Given the description of an element on the screen output the (x, y) to click on. 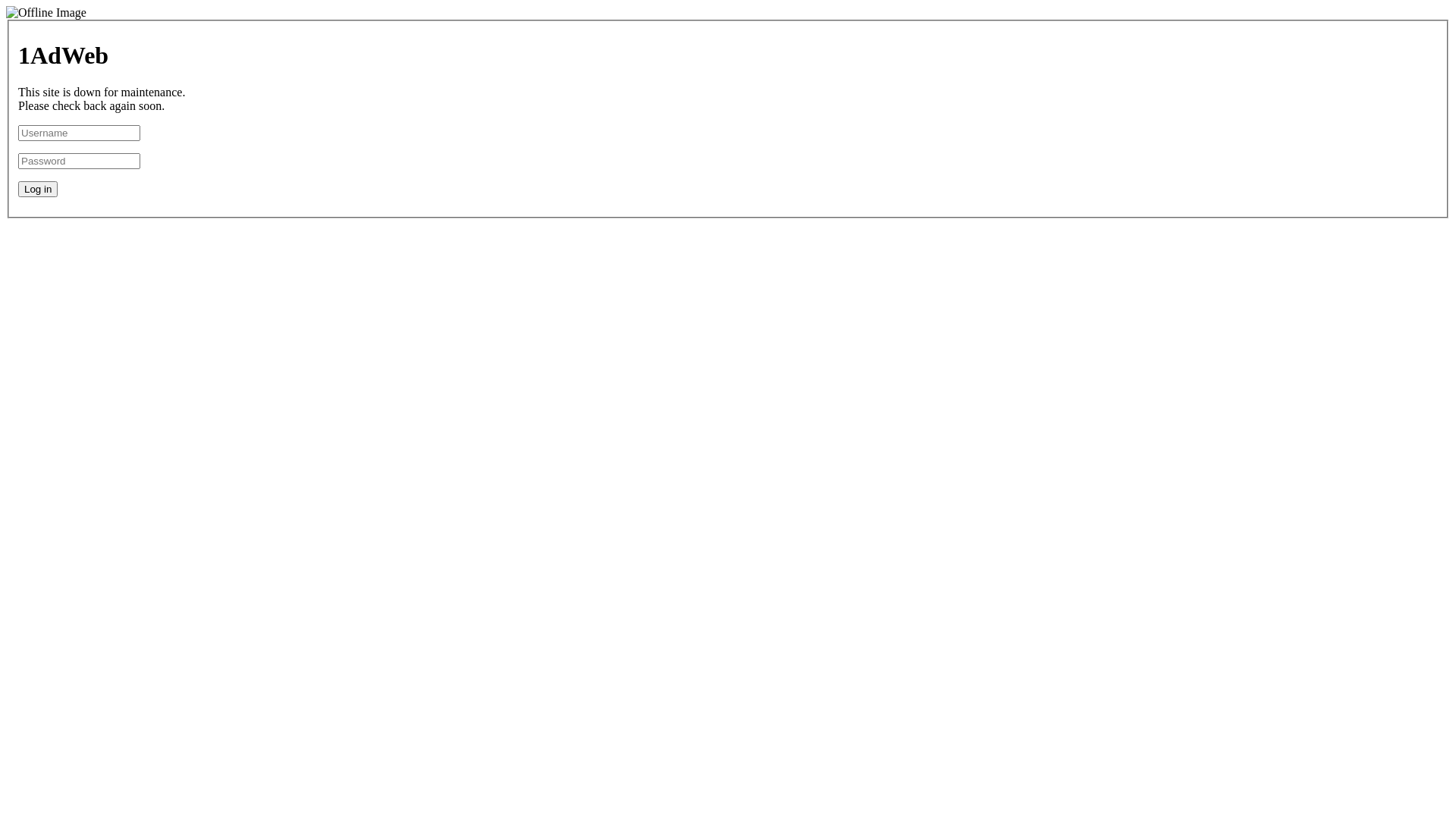
Log in Element type: text (37, 189)
